Given the description of an element on the screen output the (x, y) to click on. 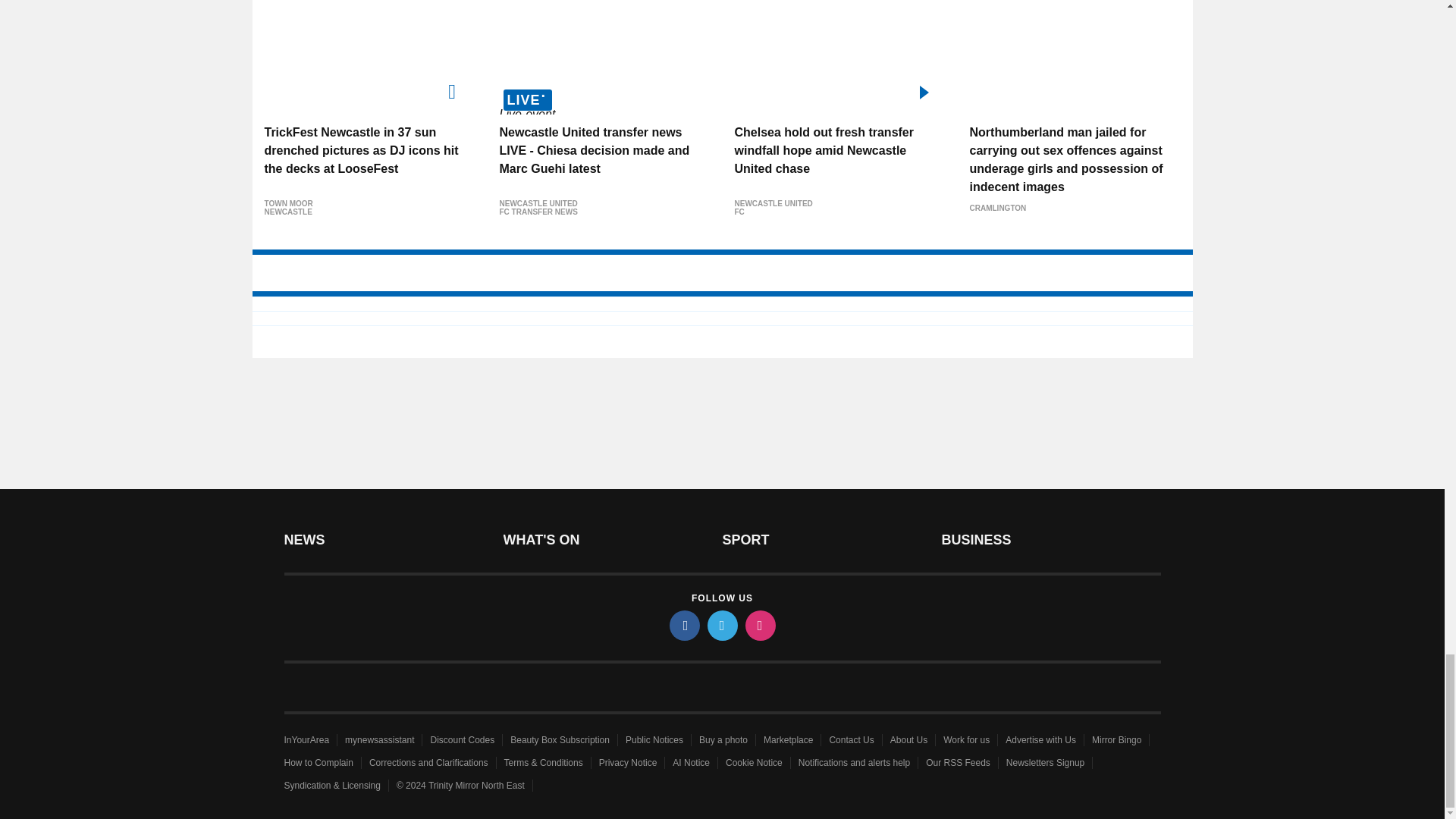
twitter (721, 625)
facebook (683, 625)
instagram (759, 625)
